Given the description of an element on the screen output the (x, y) to click on. 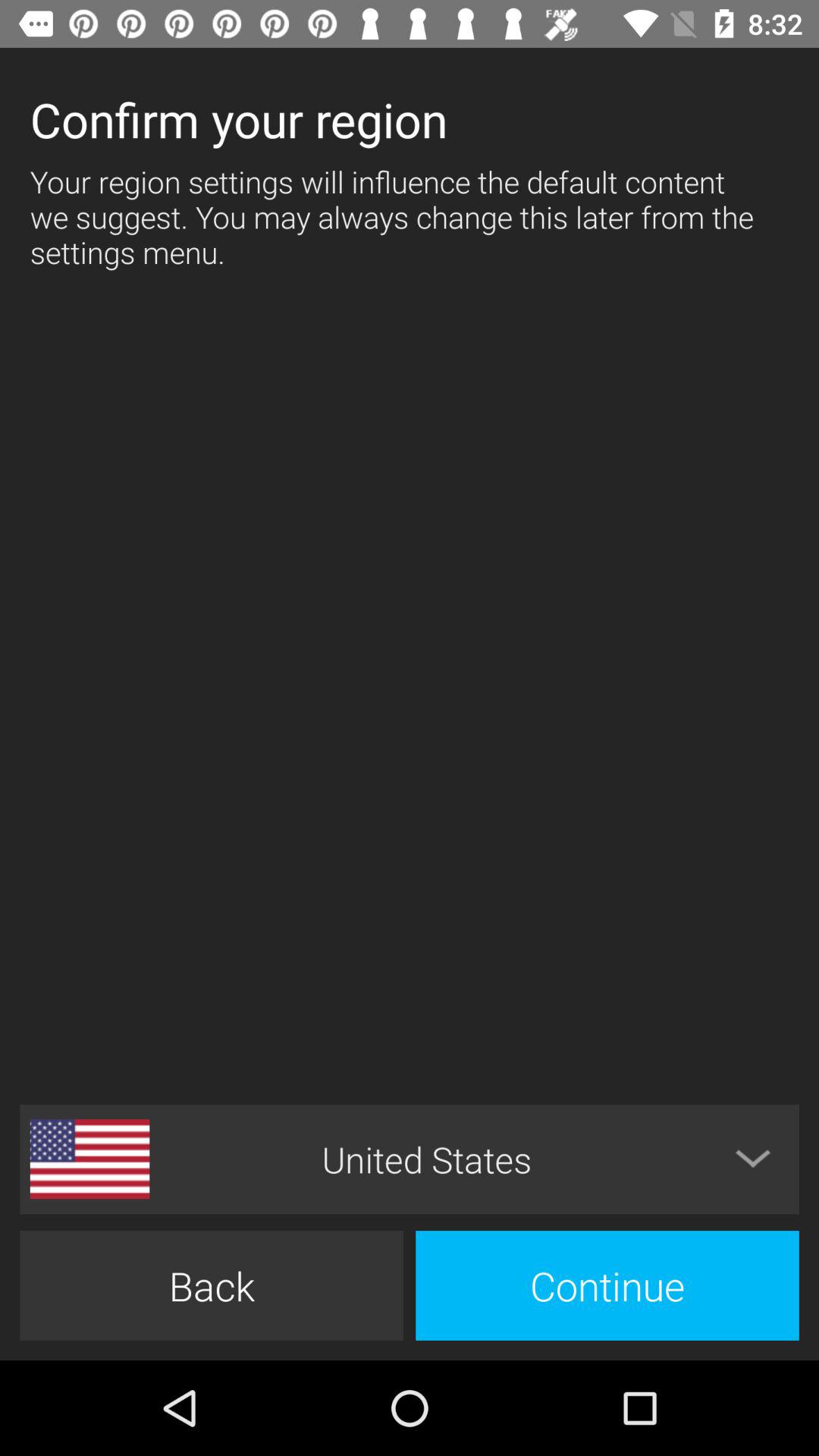
click the icon next to the continue icon (211, 1285)
